Given the description of an element on the screen output the (x, y) to click on. 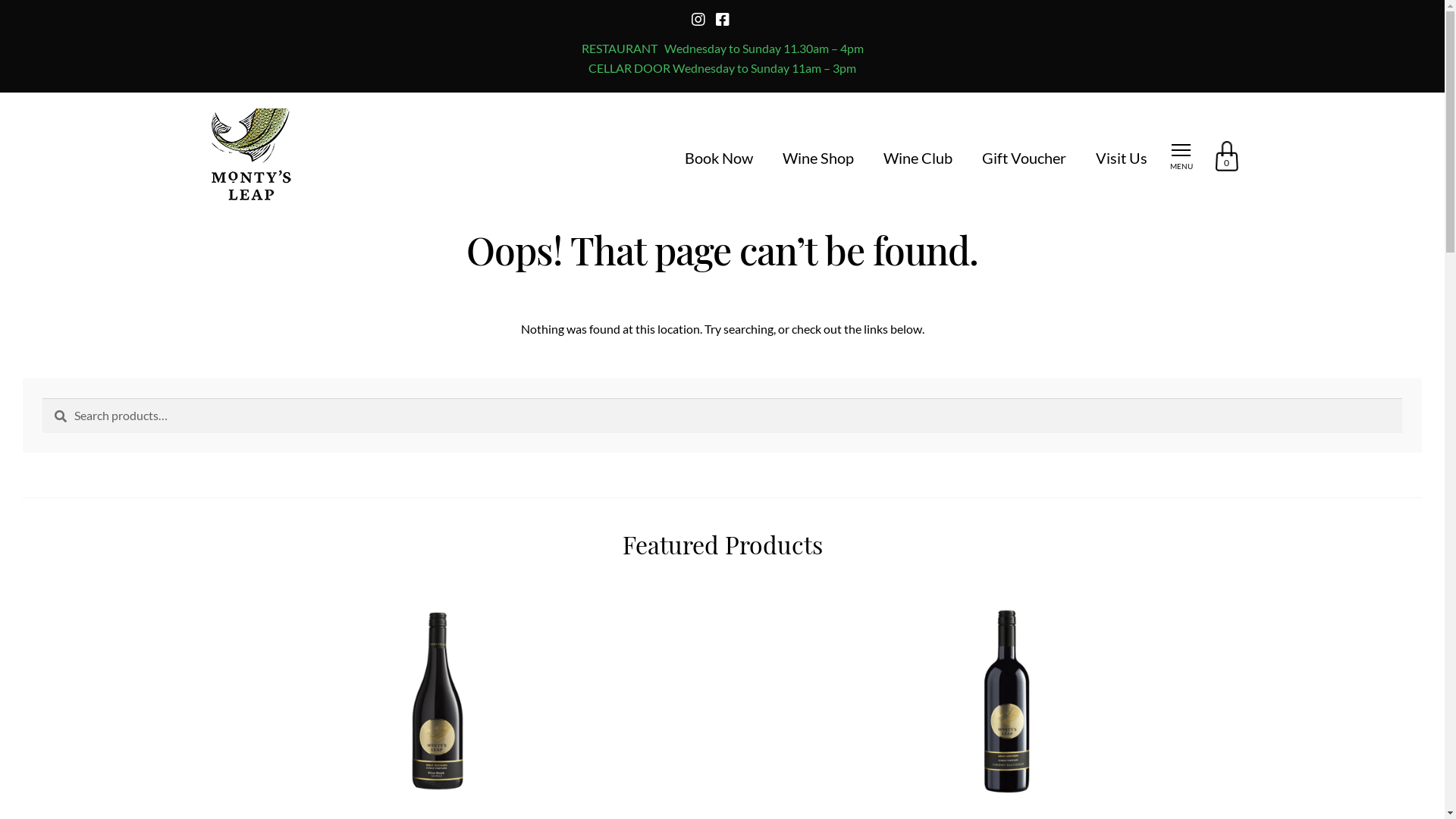
Book Now Element type: text (718, 157)
Gift Voucher Element type: text (1023, 157)
Visit Us Element type: text (1120, 157)
Wine Club Element type: text (916, 157)
0 Element type: text (1225, 158)
MENU Element type: text (1180, 158)
Search Element type: text (41, 397)
Wine Shop Element type: text (817, 157)
